Given the description of an element on the screen output the (x, y) to click on. 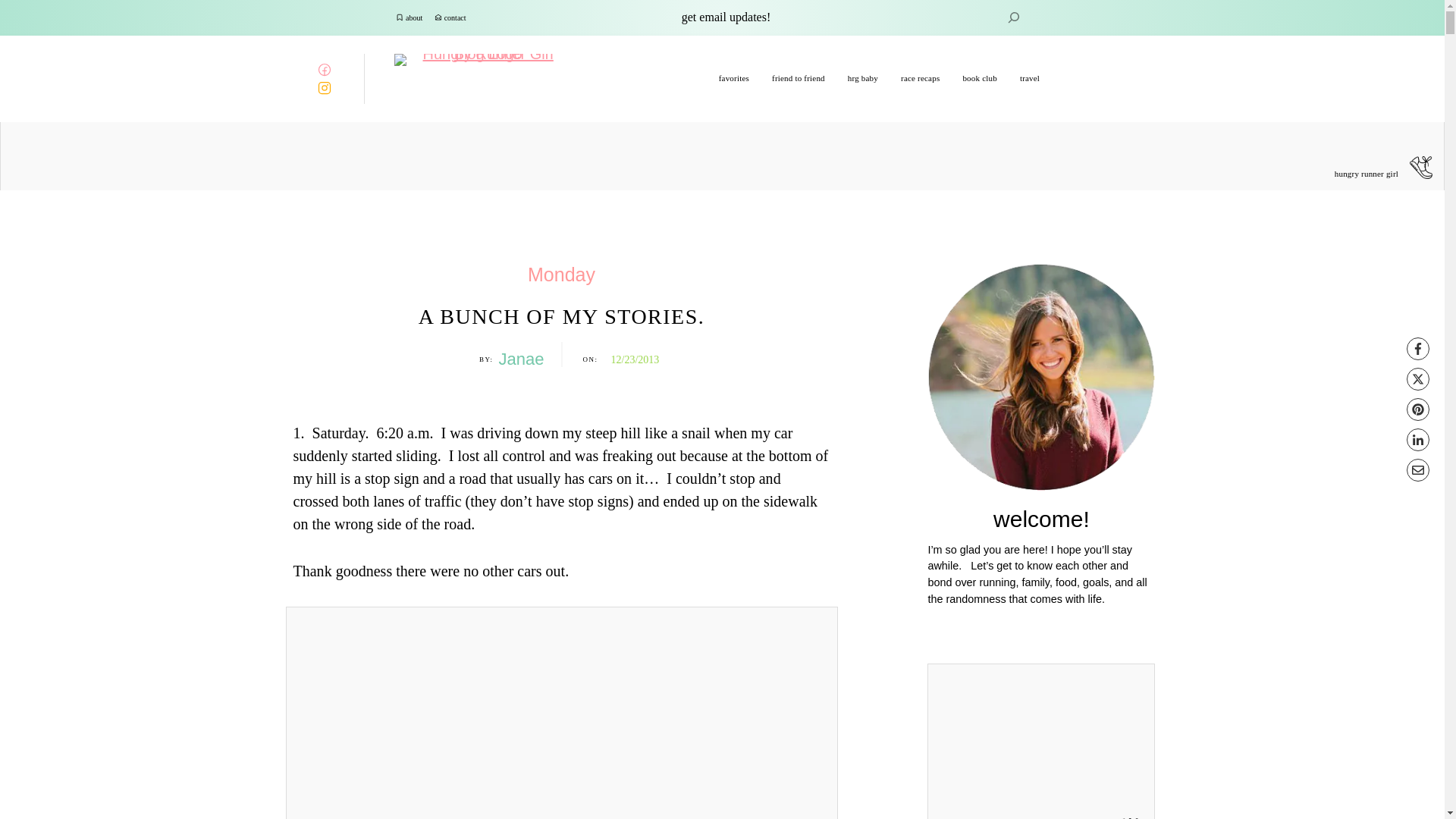
contact (454, 17)
get email updates! (726, 16)
friend to friend (798, 77)
race recaps (920, 77)
about (414, 17)
travel (1029, 77)
favorites (734, 77)
hrg baby (862, 77)
book club (979, 77)
